Given the description of an element on the screen output the (x, y) to click on. 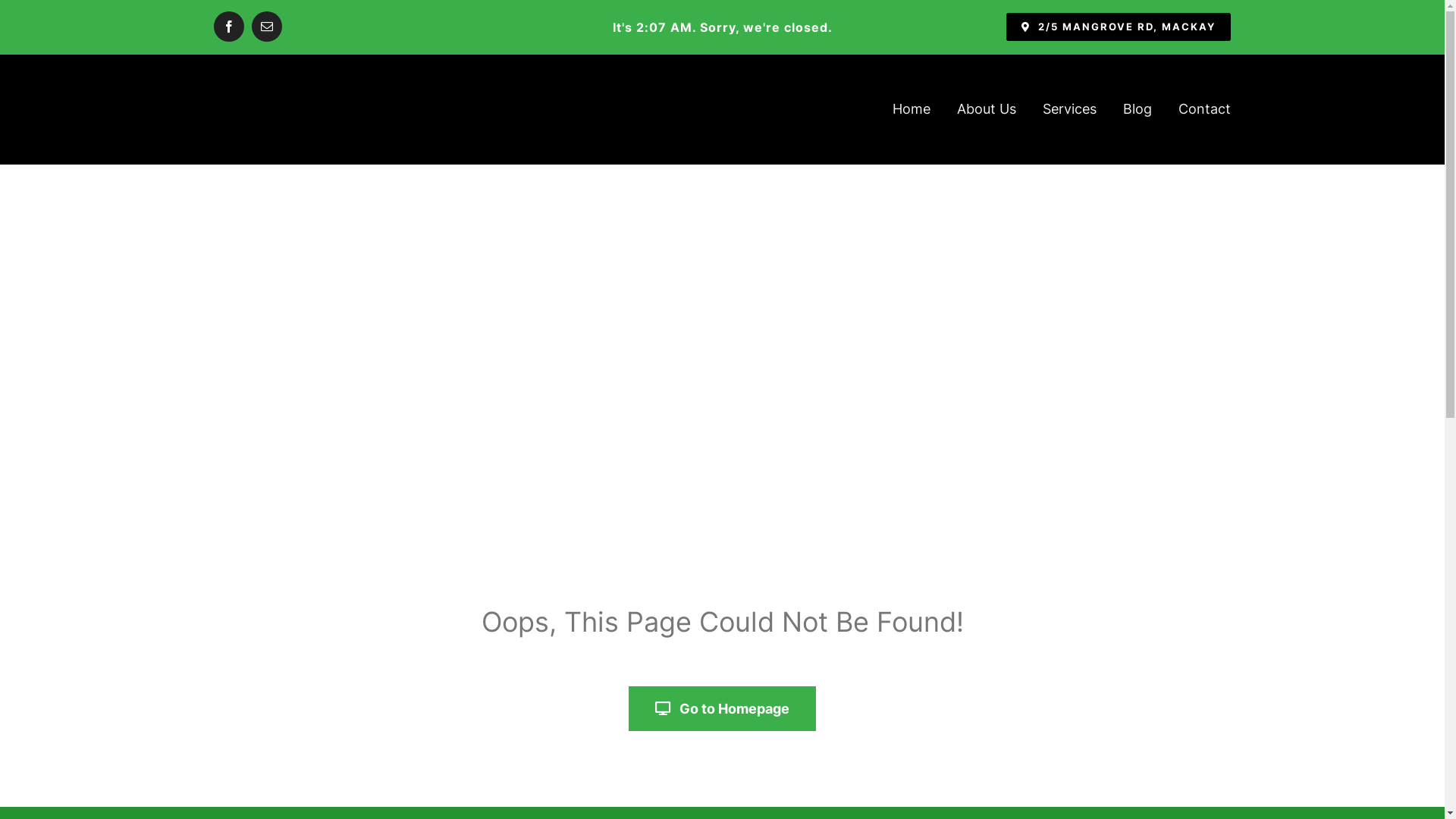
Contact Element type: text (1204, 109)
Home Element type: text (911, 109)
Services Element type: text (1069, 109)
Facebook Element type: hover (228, 26)
404-error Element type: hover (722, 402)
Go to Homepage Element type: text (722, 708)
Email Element type: hover (266, 26)
2/5 MANGROVE RD, MACKAY Element type: text (1118, 26)
About Us Element type: text (986, 109)
Blog Element type: text (1137, 109)
Afterpay_Badge_MintonBlack Element type: hover (342, 27)
